Given the description of an element on the screen output the (x, y) to click on. 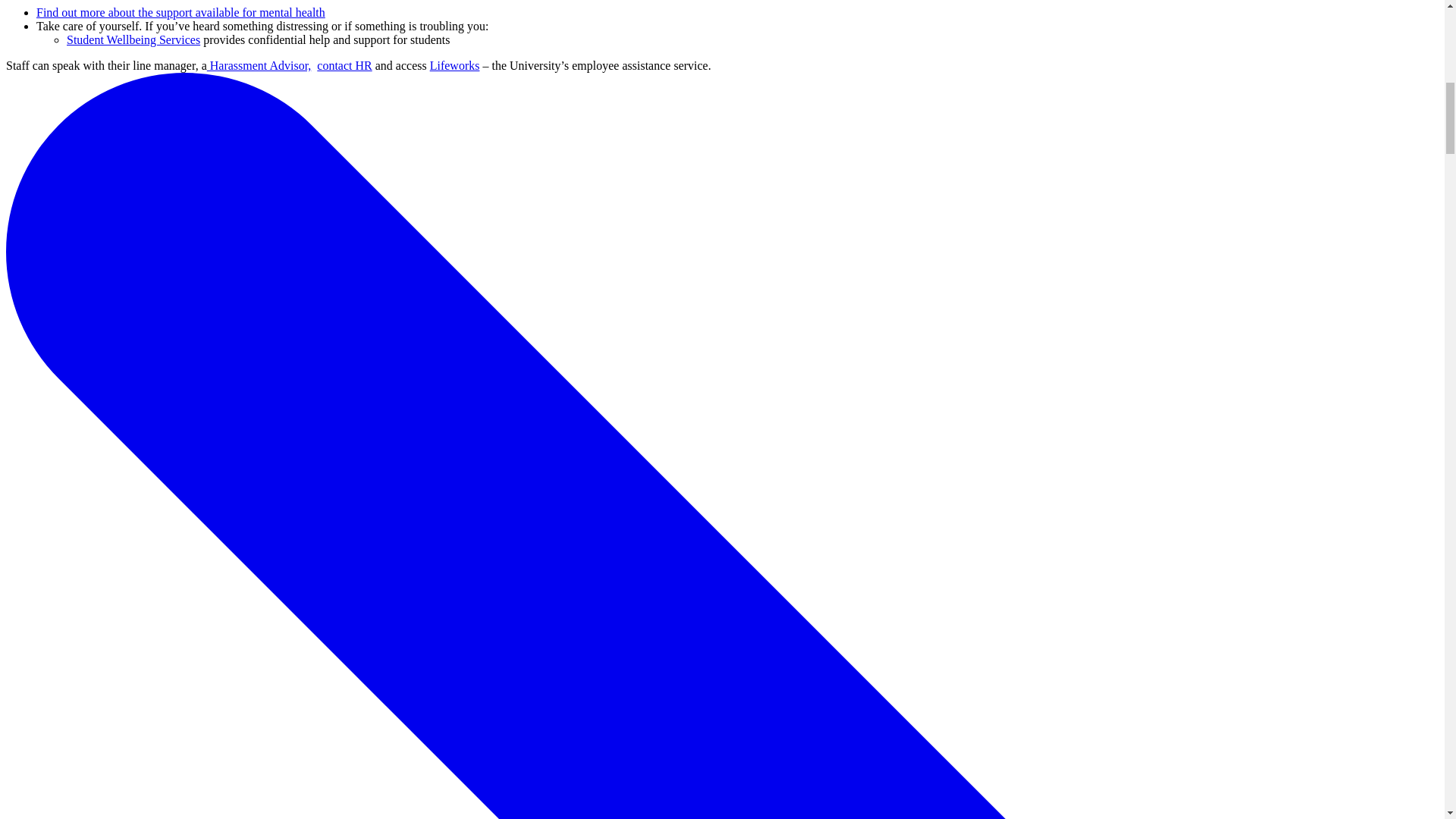
contact HR (344, 65)
Harassment Advisor, (258, 65)
Find out more about the support available for mental health (180, 11)
Lifeworks (454, 65)
Student Wellbeing Services (133, 39)
